Given the description of an element on the screen output the (x, y) to click on. 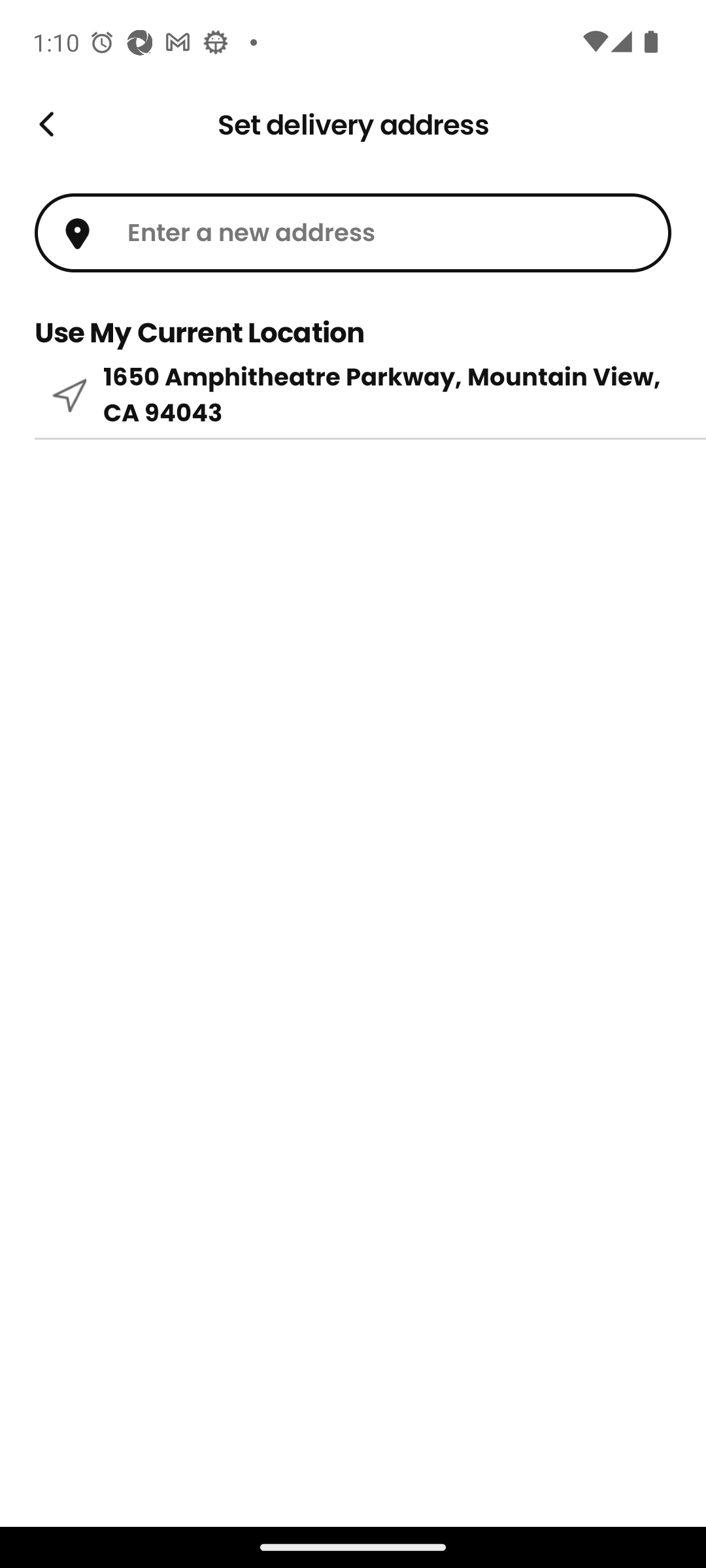
Enter a new address (352, 232)
1650 Amphitheatre Parkway, Mountain View, CA 94043 (352, 394)
